Given the description of an element on the screen output the (x, y) to click on. 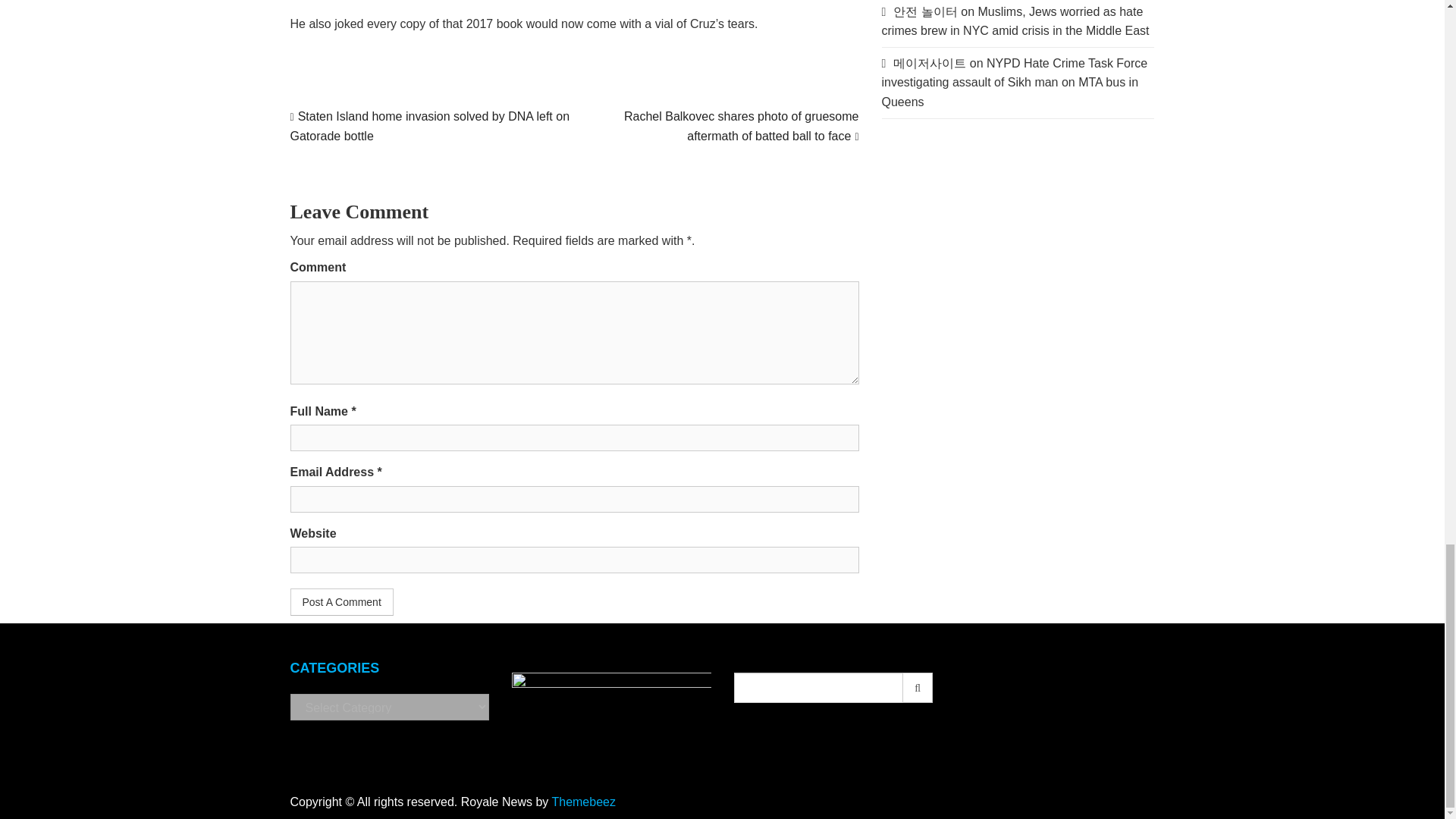
Post A Comment (341, 601)
Post A Comment (341, 601)
